Given the description of an element on the screen output the (x, y) to click on. 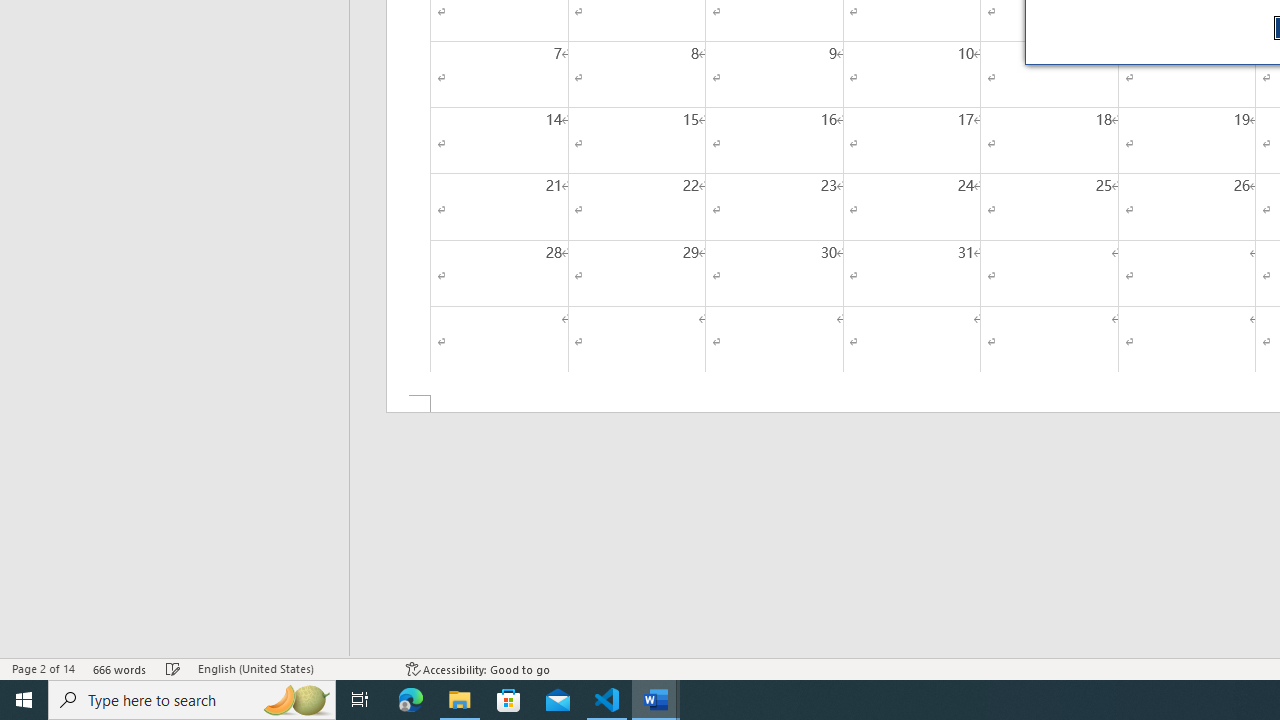
Spelling and Grammar Check Checking (173, 668)
